Given the description of an element on the screen output the (x, y) to click on. 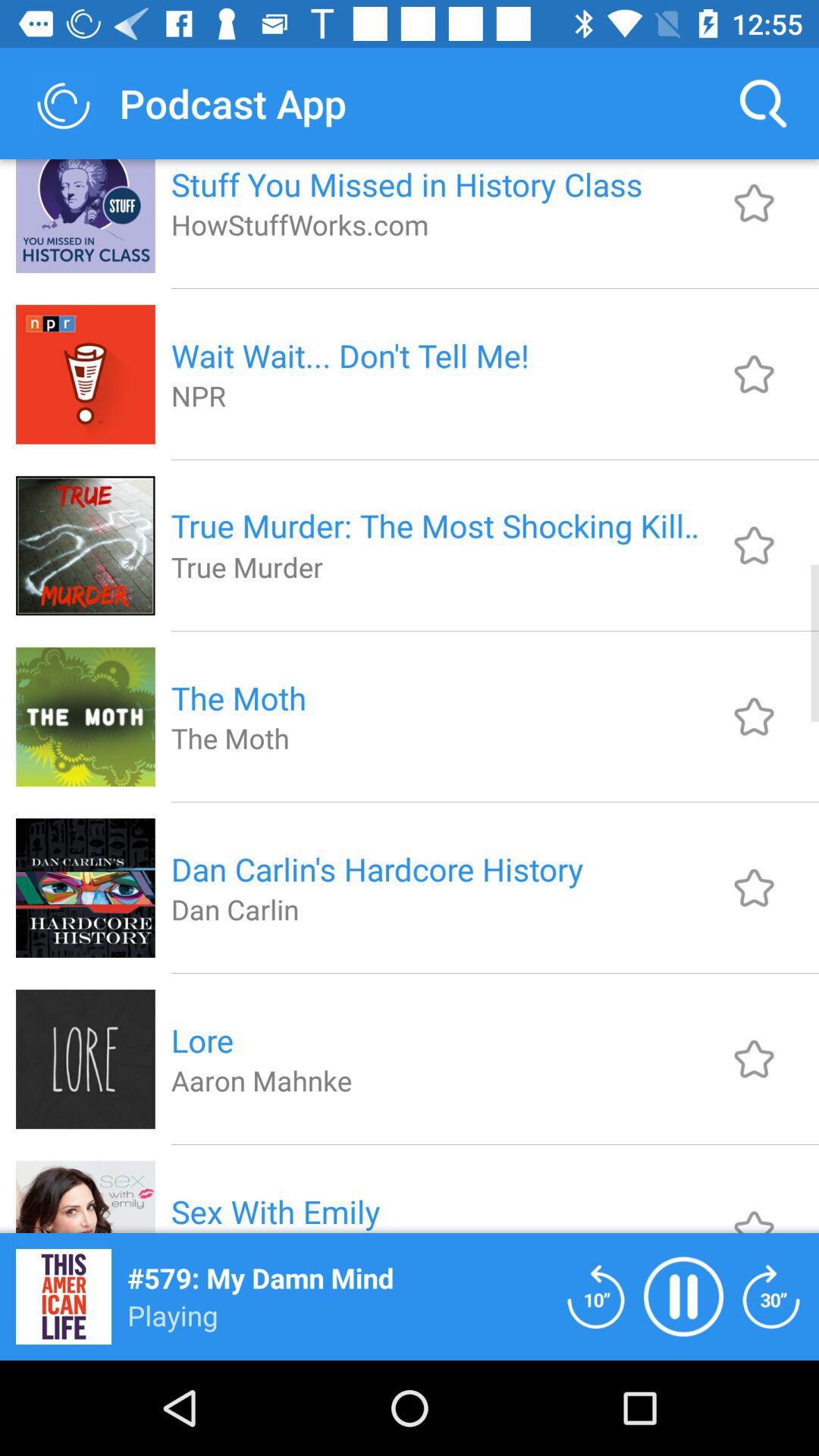
launch the item next to stuff you missed item (763, 103)
